Given the description of an element on the screen output the (x, y) to click on. 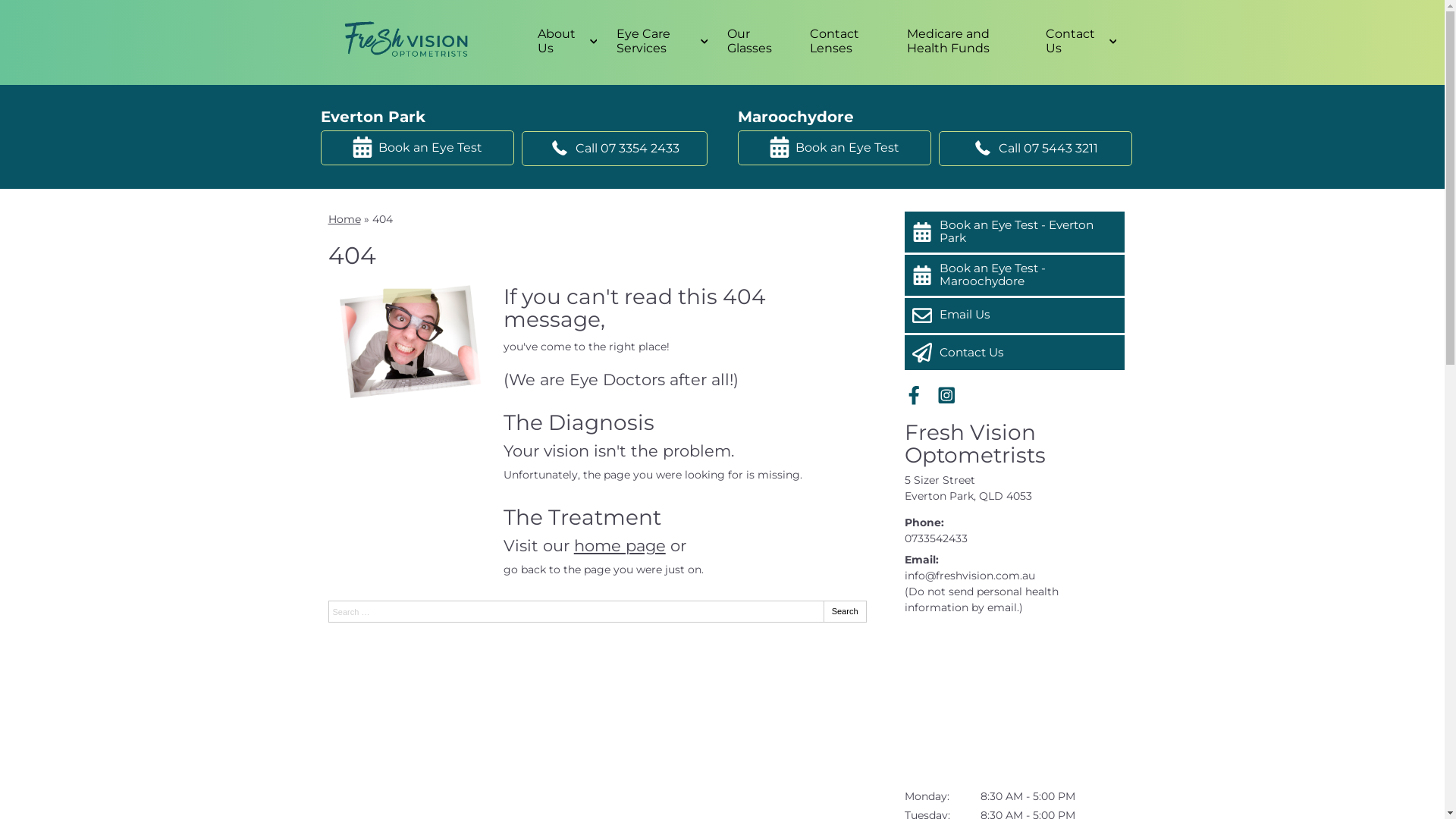
Contact Us Element type: text (1078, 40)
Fresh Vision Optometrists Element type: text (973, 443)
Eye Care Services Element type: text (659, 40)
Search Element type: text (844, 611)
info@freshvision.com.au Element type: text (968, 575)
Medicare and Health Funds Element type: text (963, 40)
Book an Eye Test - Everton Park Element type: text (1013, 231)
Email Us Element type: text (1013, 315)
Contact Lenses Element type: text (845, 40)
Book an Eye Test Element type: text (416, 147)
home page Element type: text (619, 545)
Book an Eye Test - Maroochydore Element type: text (1013, 274)
Call 07 3354 2433 Element type: text (614, 148)
0733542433 Element type: text (934, 538)
Our Glasses Element type: text (756, 40)
About Us Element type: text (564, 40)
Google map Element type: hover (1013, 702)
Call 07 5443 3211 Element type: text (1035, 148)
Book an Eye Test Element type: text (833, 147)
Contact Us Element type: text (1013, 352)
Home Element type: text (343, 218)
